Given the description of an element on the screen output the (x, y) to click on. 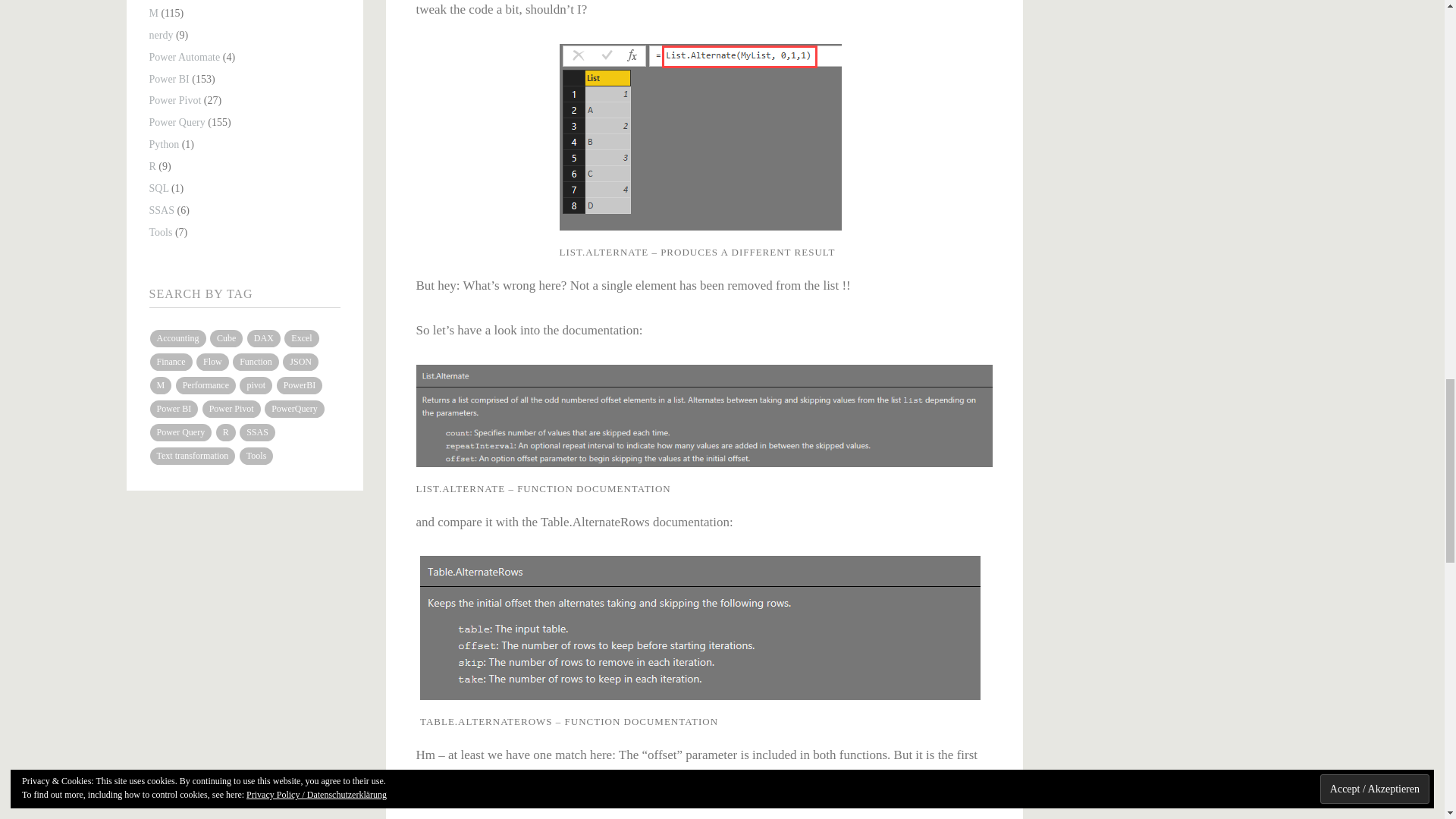
nerdy (160, 34)
Python (163, 143)
Cube (226, 338)
Accounting (177, 338)
SQL (158, 188)
DAX (264, 338)
Power Automate (183, 57)
Power Pivot (174, 100)
Finance (170, 361)
SSAS (160, 210)
Power Query (176, 122)
Tools (159, 232)
Power BI (168, 79)
Excel (300, 338)
